Given the description of an element on the screen output the (x, y) to click on. 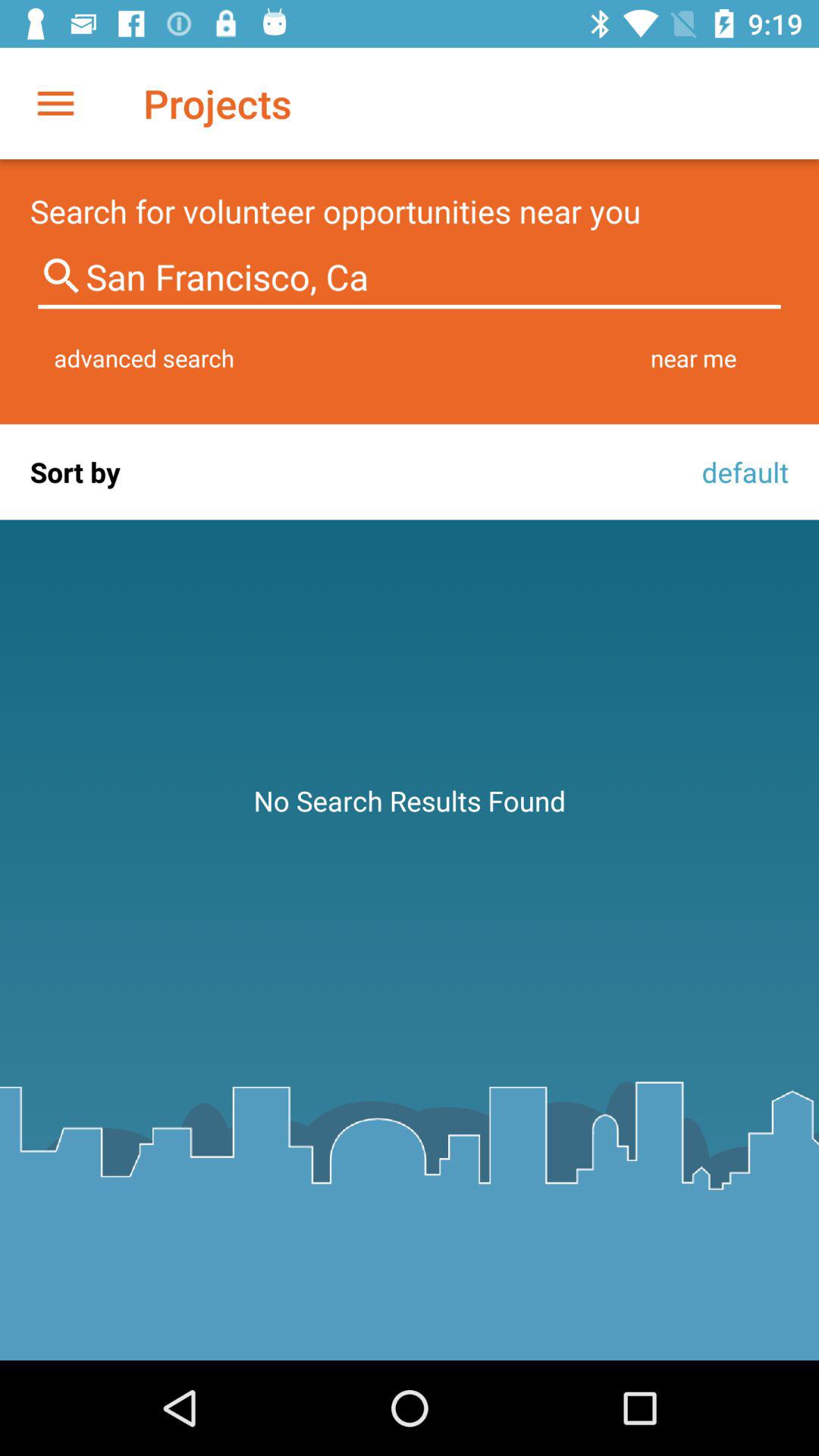
click the item above the advanced search (409, 277)
